Given the description of an element on the screen output the (x, y) to click on. 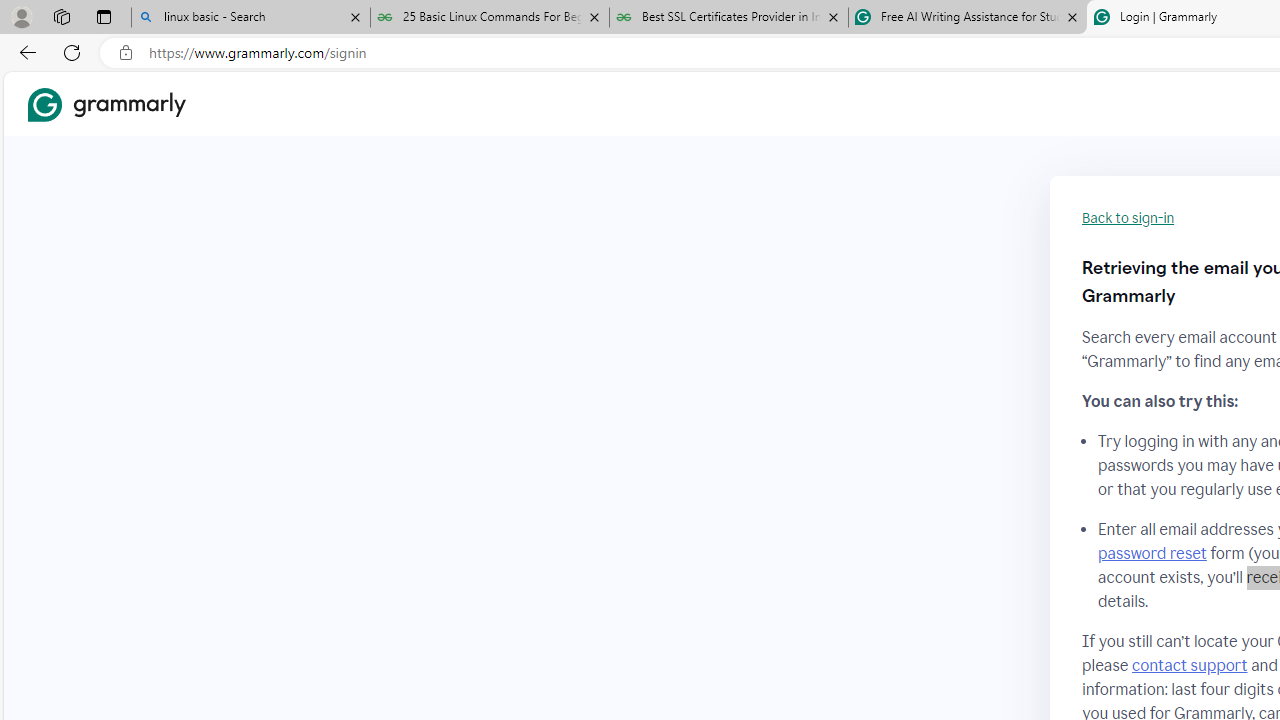
contact support (1189, 665)
25 Basic Linux Commands For Beginners - GeeksforGeeks (490, 17)
Free AI Writing Assistance for Students | Grammarly (967, 17)
Best SSL Certificates Provider in India - GeeksforGeeks (729, 17)
password reset (1152, 553)
linux basic - Search (250, 17)
Grammarly Home (106, 103)
Back to sign-in (1128, 218)
